Given the description of an element on the screen output the (x, y) to click on. 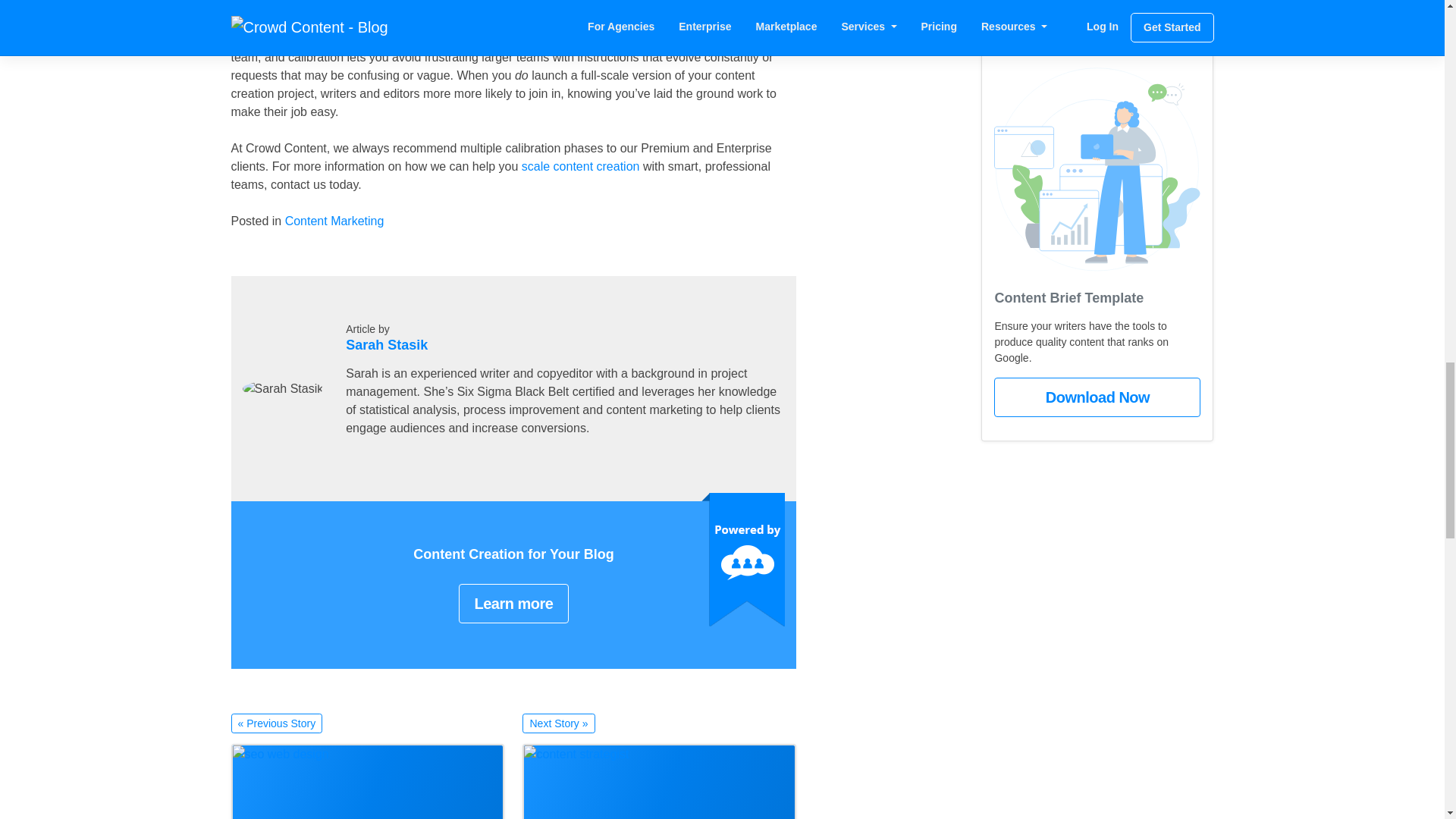
Content Marketing (334, 220)
Learn more (513, 603)
Sarah Stasik (387, 344)
scale content creation (580, 165)
